Given the description of an element on the screen output the (x, y) to click on. 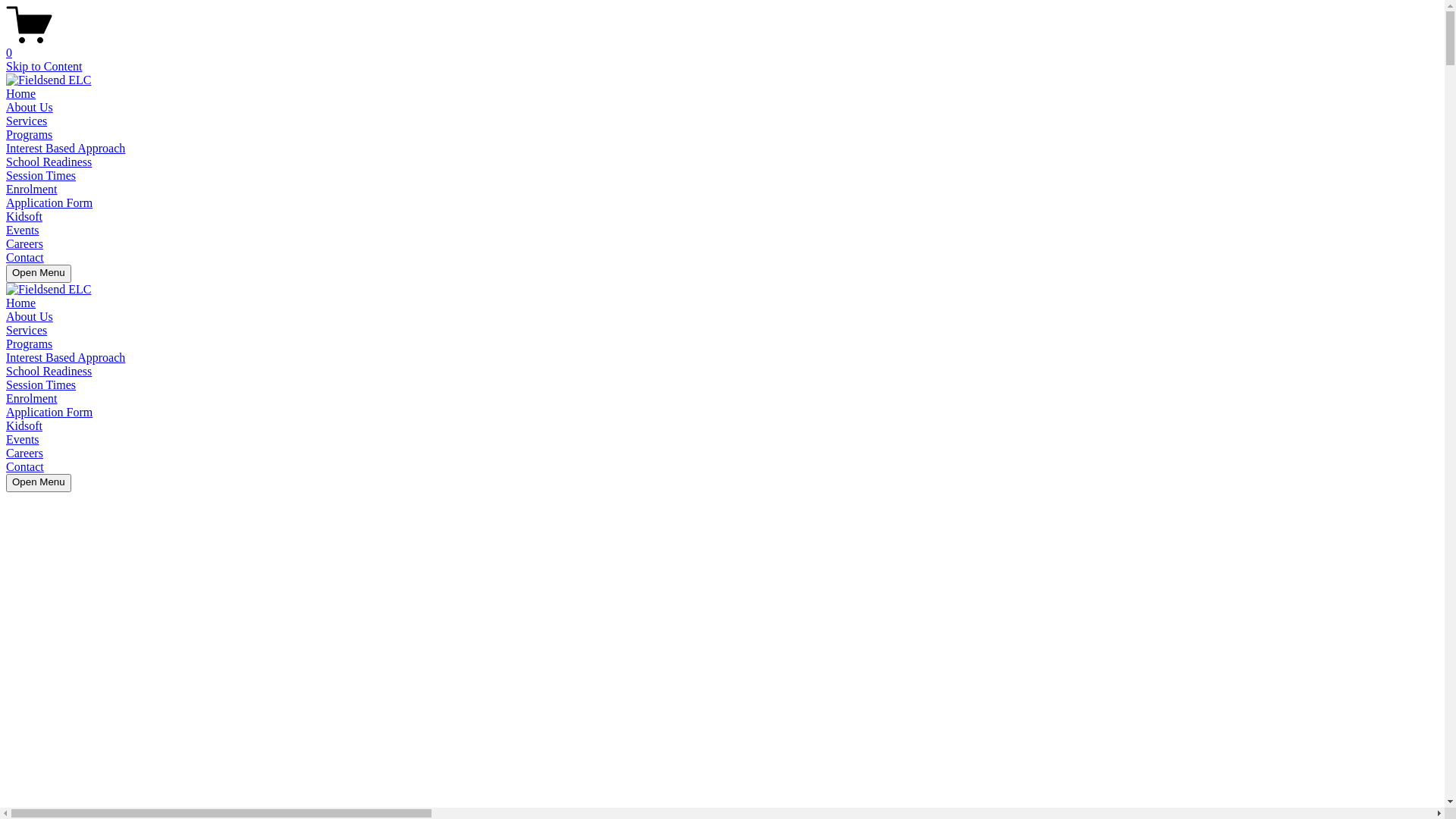
Careers Element type: text (24, 243)
Application Form Element type: text (49, 202)
Contact Element type: text (24, 466)
Enrolment Element type: text (31, 188)
Events Element type: text (22, 439)
Home Element type: text (20, 302)
Interest Based Approach Element type: text (65, 147)
Kidsoft Element type: text (24, 425)
Session Times Element type: text (40, 384)
Programs Element type: text (29, 134)
Services Element type: text (26, 120)
School Readiness Element type: text (48, 161)
0 Element type: text (722, 45)
Services Element type: text (26, 329)
Open Menu Element type: text (38, 482)
Events Element type: text (22, 229)
Contact Element type: text (24, 257)
Programs Element type: text (29, 343)
Session Times Element type: text (40, 175)
About Us Element type: text (29, 316)
Skip to Content Element type: text (43, 65)
Careers Element type: text (24, 452)
Open Menu Element type: text (38, 273)
School Readiness Element type: text (48, 370)
Application Form Element type: text (49, 411)
Enrolment Element type: text (31, 398)
Home Element type: text (20, 93)
Interest Based Approach Element type: text (65, 357)
About Us Element type: text (29, 106)
Kidsoft Element type: text (24, 216)
